Given the description of an element on the screen output the (x, y) to click on. 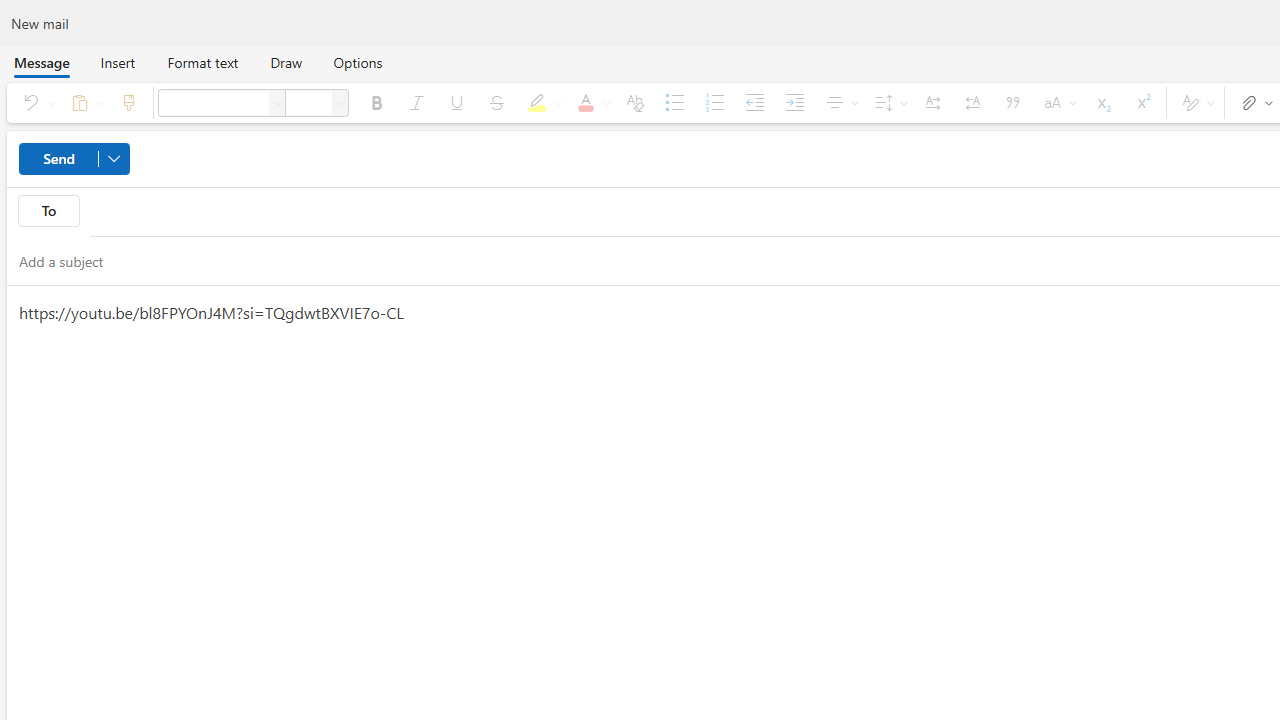
Options (357, 61)
System (10, 11)
Subscript (1101, 102)
Insert (117, 61)
Strikethrough (497, 102)
To (48, 210)
Numbering (714, 102)
Font size (340, 102)
Format painter (128, 102)
Paste (84, 102)
Superscript (1142, 102)
Italic (416, 102)
Styles (1195, 102)
Increase indent (794, 102)
Align (839, 102)
